Given the description of an element on the screen output the (x, y) to click on. 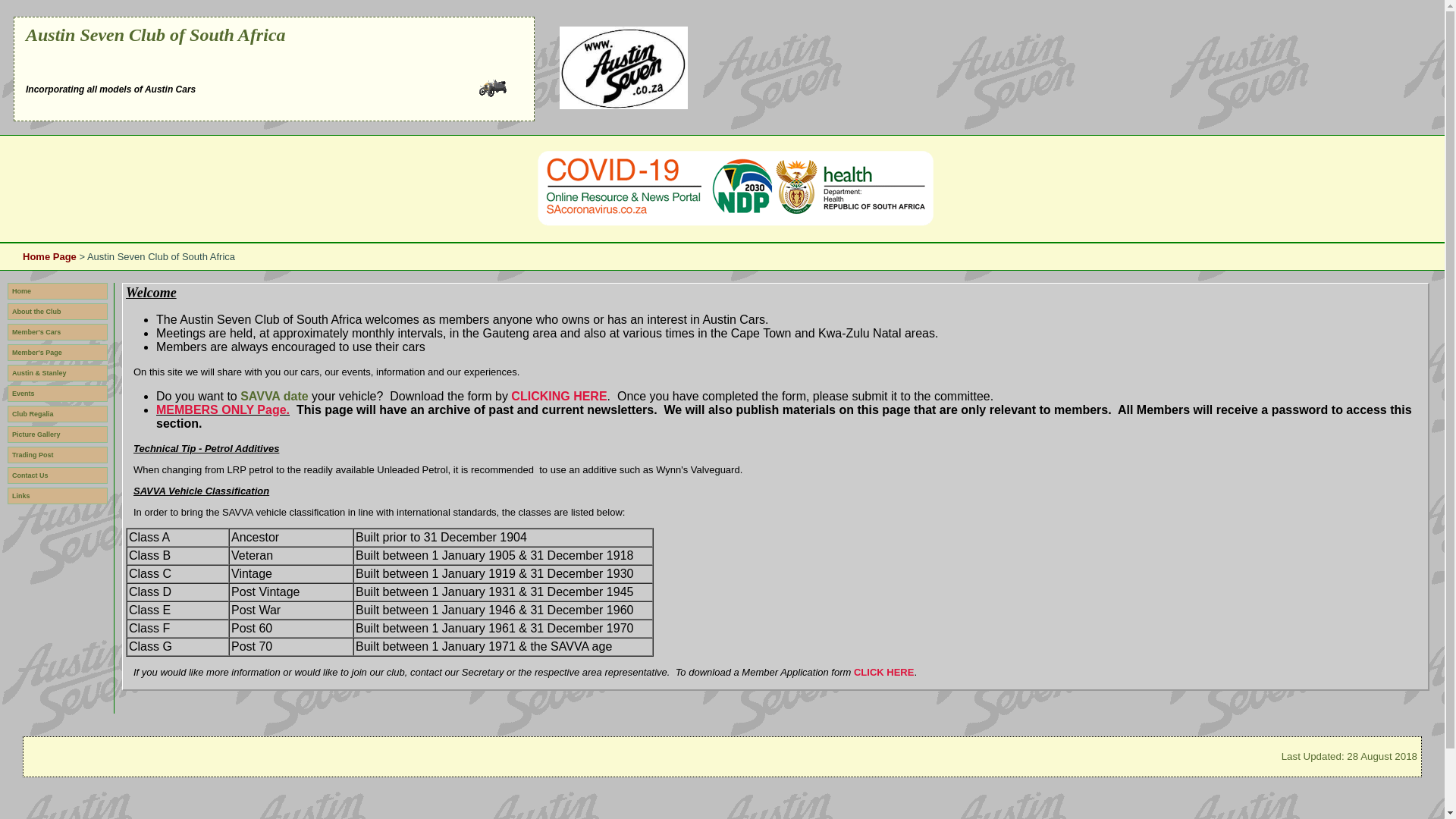
Home (57, 290)
Contact Us (57, 475)
About the Club (57, 311)
Club Regalia (57, 413)
Picture Gallery (57, 434)
Trading Post (57, 454)
CLICK HERE (883, 672)
Events (57, 393)
Member's Page (57, 352)
Member's Cars (57, 331)
CLICKING HERE (559, 395)
MEMBERS ONLY Page. (222, 409)
Links (57, 495)
